Given the description of an element on the screen output the (x, y) to click on. 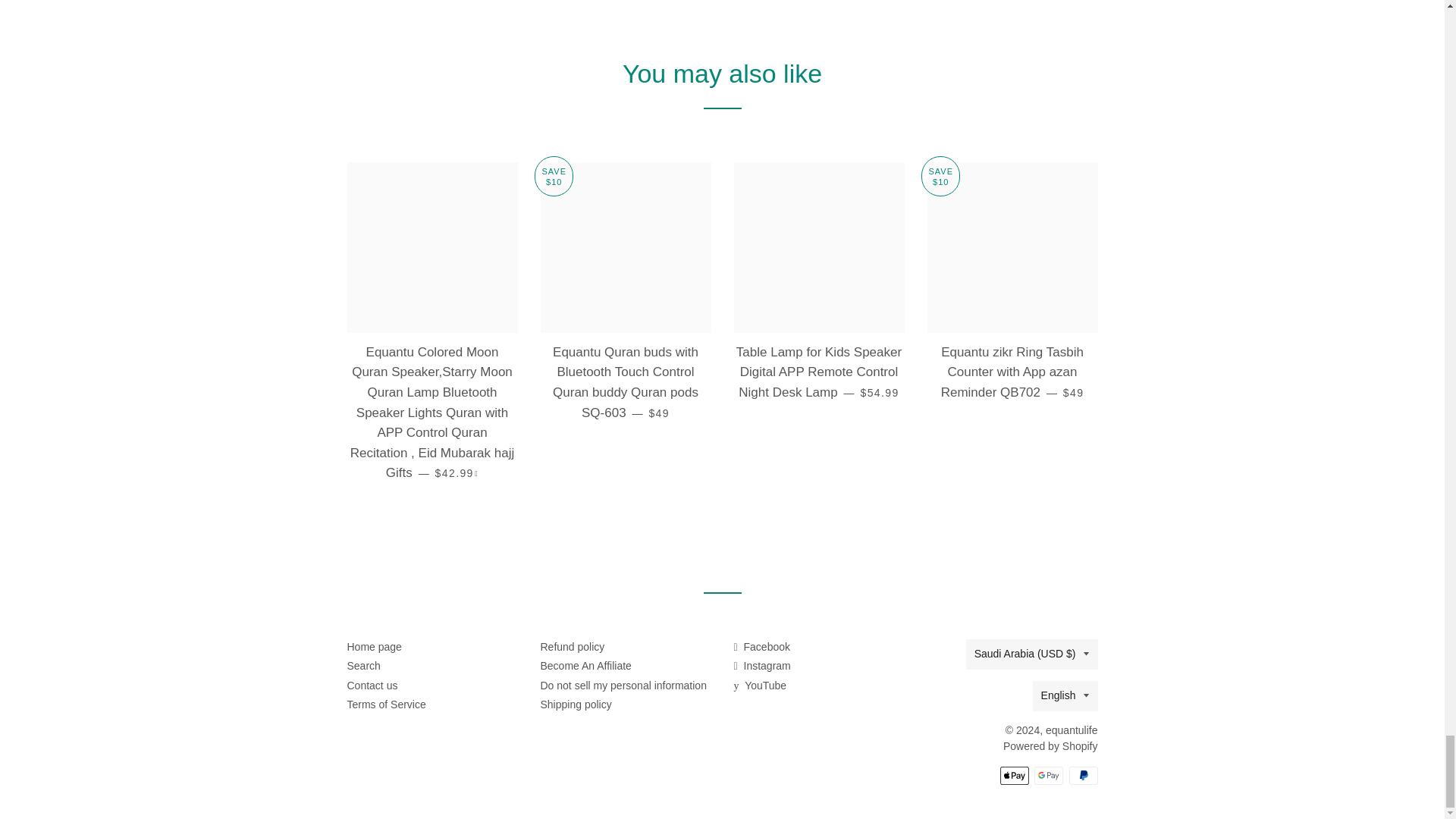
Google Pay (1047, 775)
equantulife on Instagram (761, 665)
PayPal (1082, 775)
equantulife on YouTube (760, 685)
Apple Pay (1012, 775)
equantulife on Facebook (761, 646)
